Given the description of an element on the screen output the (x, y) to click on. 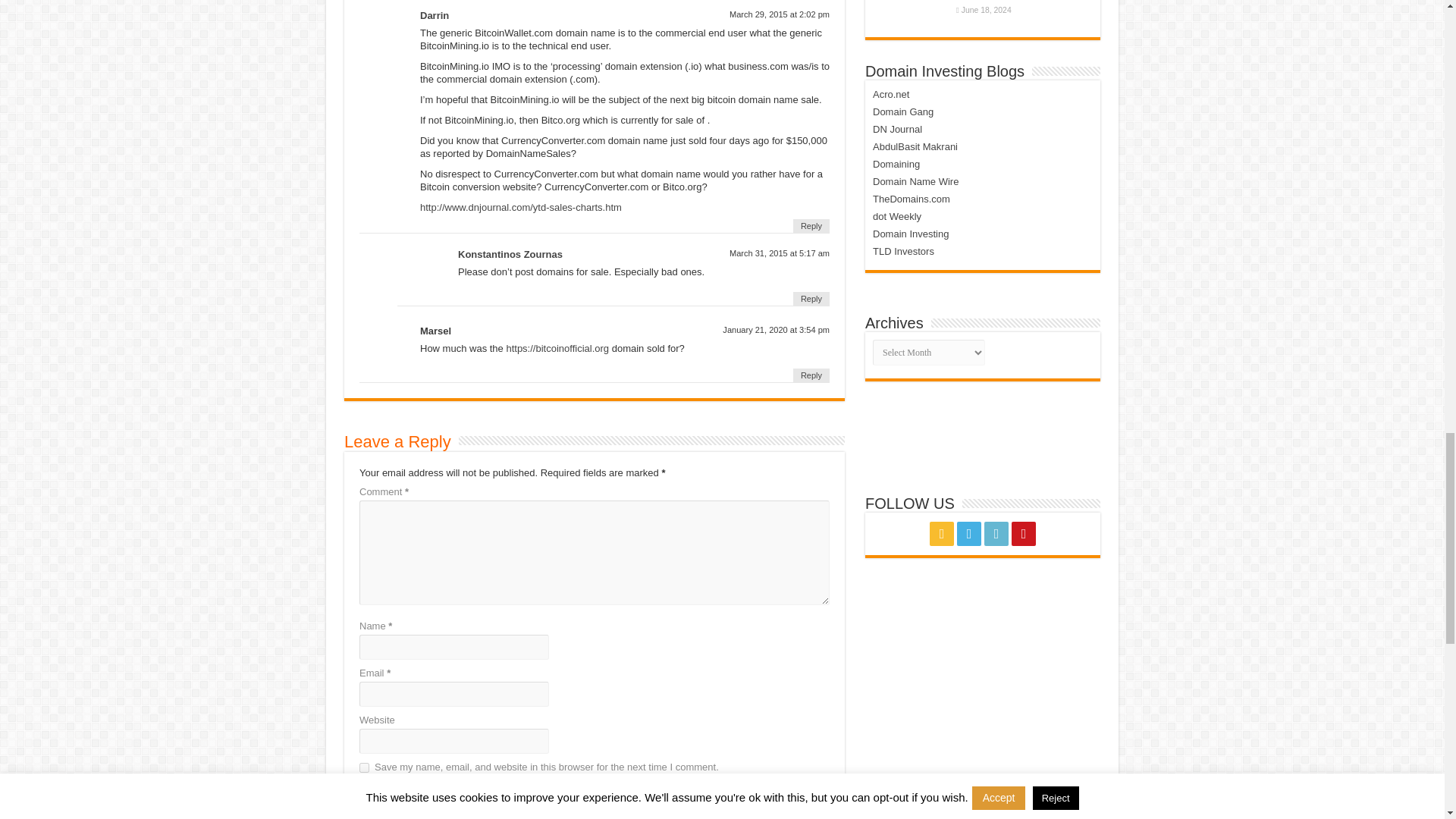
subscribe (364, 789)
yes (364, 767)
subscribe (364, 808)
